Given the description of an element on the screen output the (x, y) to click on. 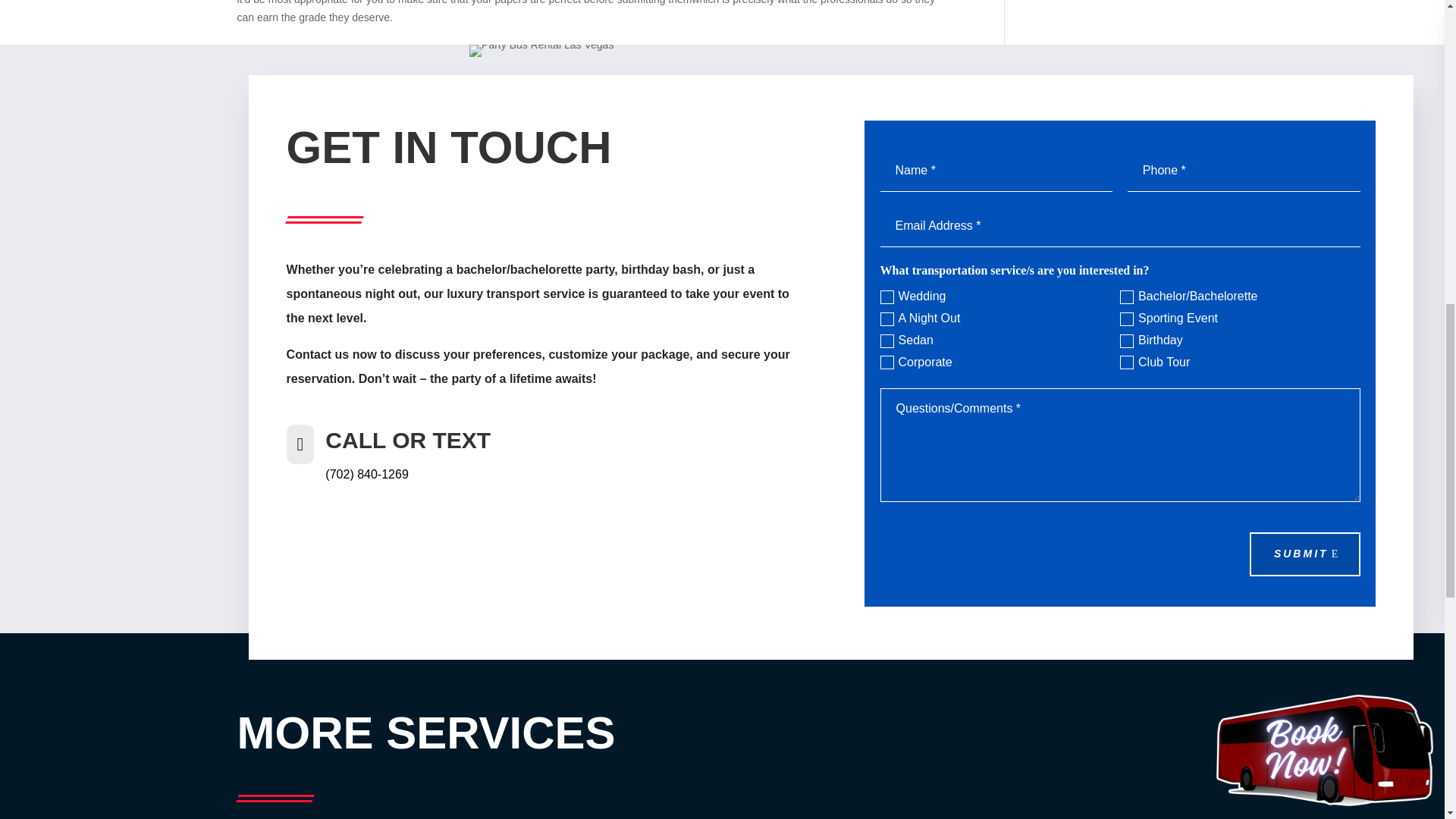
party-bus-rental-las-vegas (540, 50)
